Given the description of an element on the screen output the (x, y) to click on. 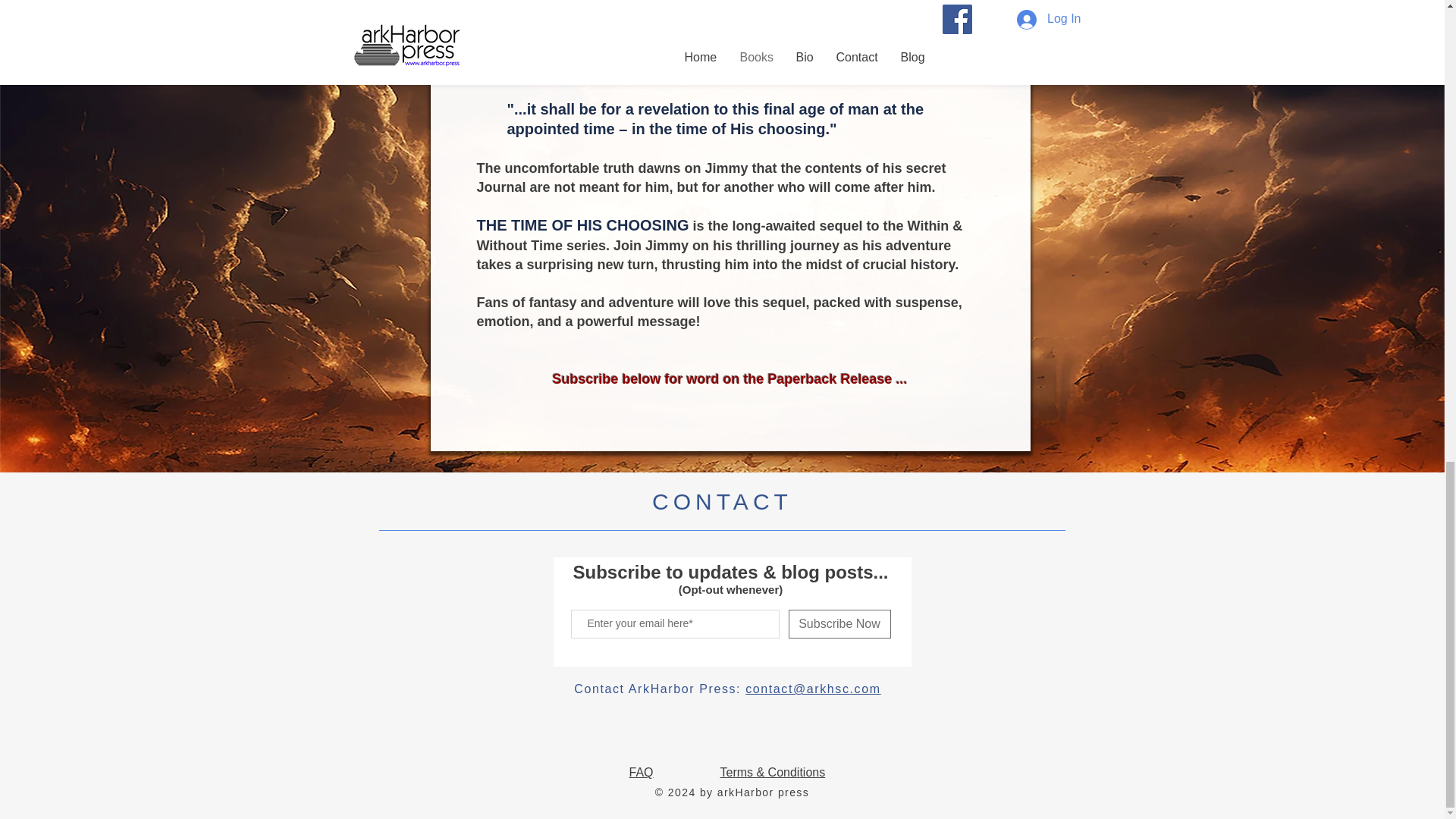
Subscribe Now (840, 623)
FAQ (640, 771)
